Given the description of an element on the screen output the (x, y) to click on. 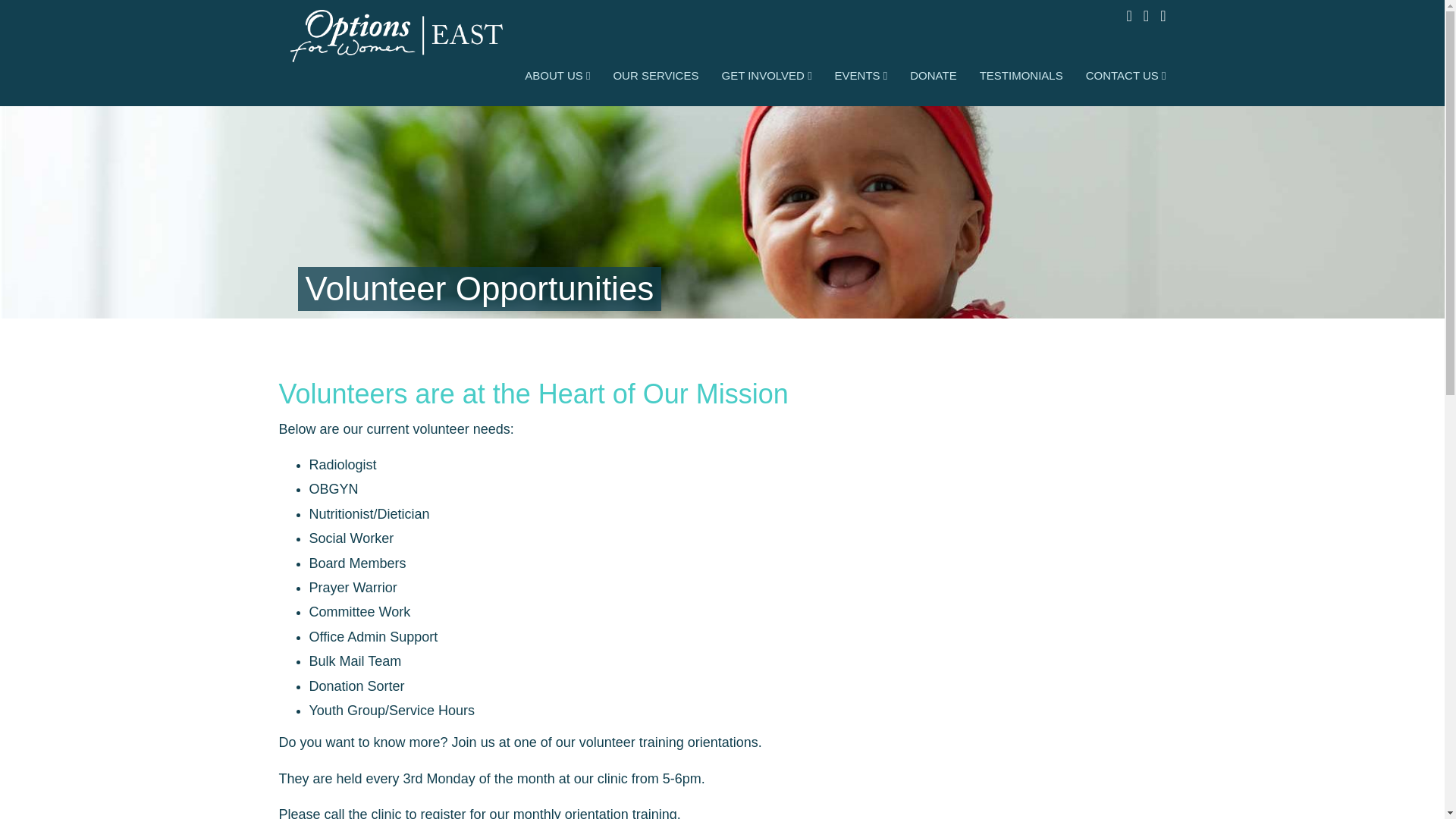
Events (861, 78)
ABOUT US (557, 78)
Get Involved (766, 78)
Our Services (655, 78)
CONTACT US (1120, 78)
About Us (557, 78)
EVENTS (861, 78)
TESTIMONIALS (1021, 78)
GET INVOLVED (766, 78)
DONATE (933, 78)
OUR SERVICES (655, 78)
